Given the description of an element on the screen output the (x, y) to click on. 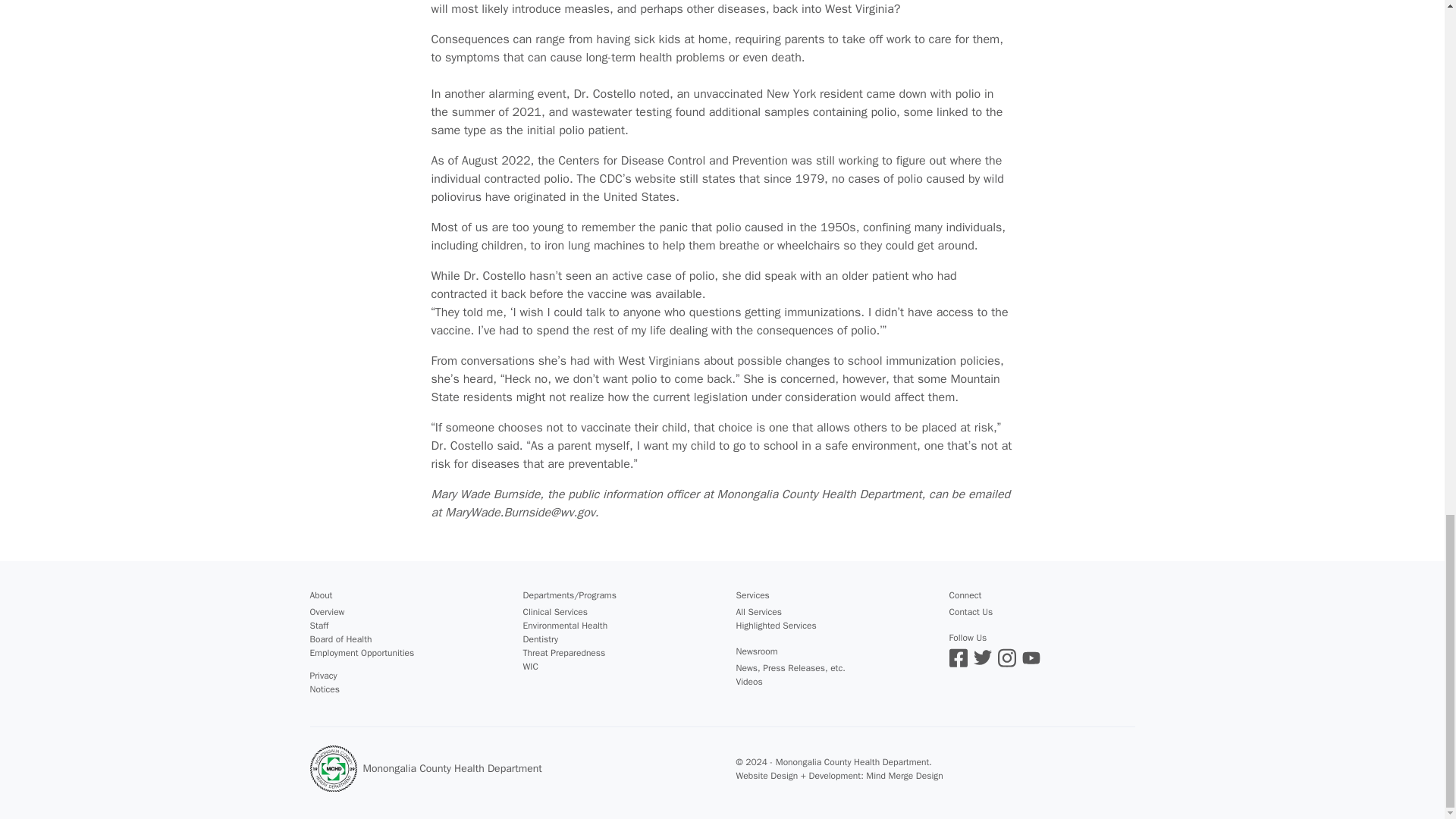
Highlighted Services (775, 625)
Notices (323, 689)
WIC (530, 666)
Environmental Health (565, 625)
Contact Us (970, 612)
Board of Health (339, 639)
All Services (757, 612)
Staff (318, 625)
Clinical Services (555, 612)
Threat Preparedness (563, 653)
